Given the description of an element on the screen output the (x, y) to click on. 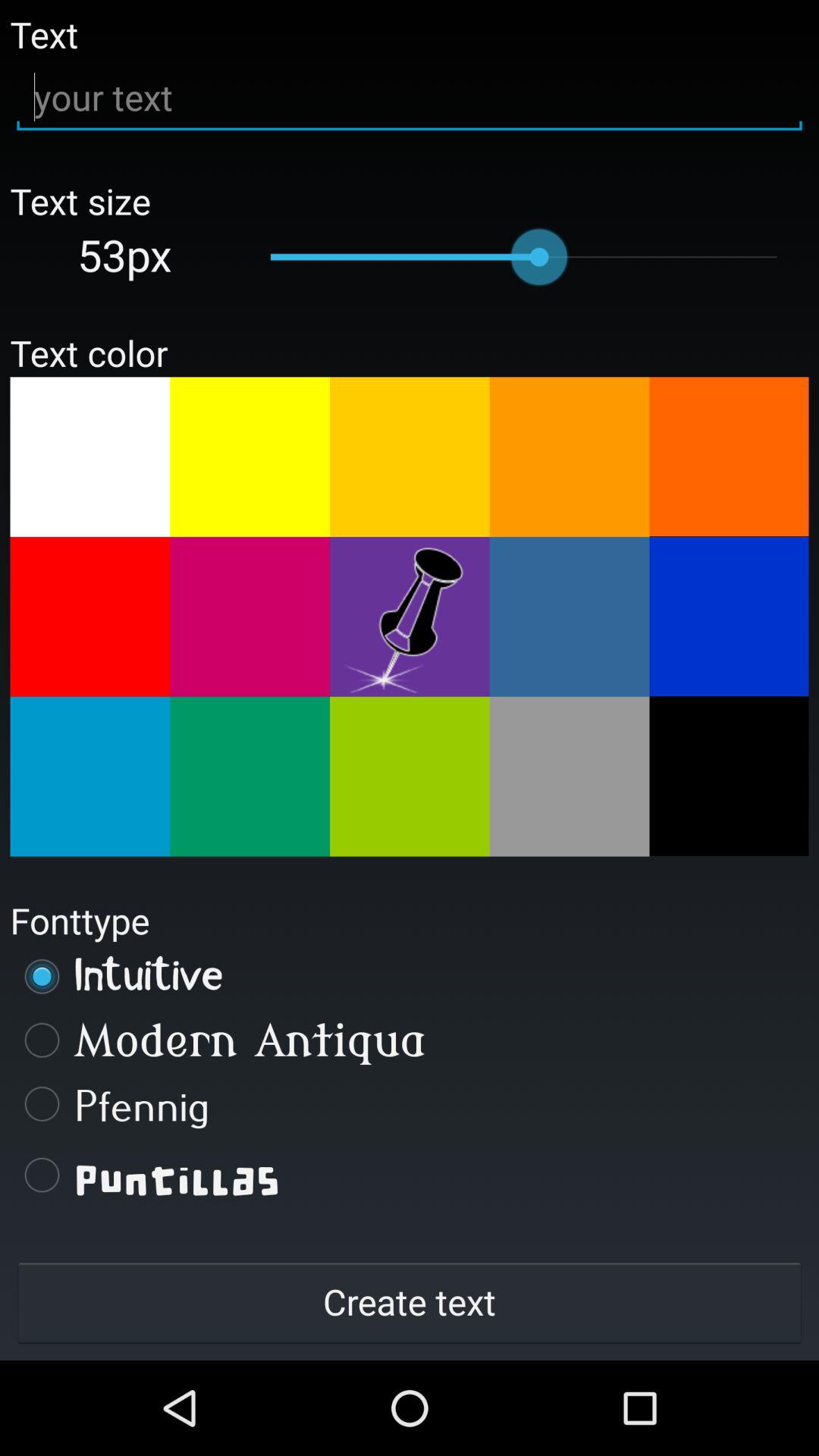
launch icon above the create text (409, 1174)
